Given the description of an element on the screen output the (x, y) to click on. 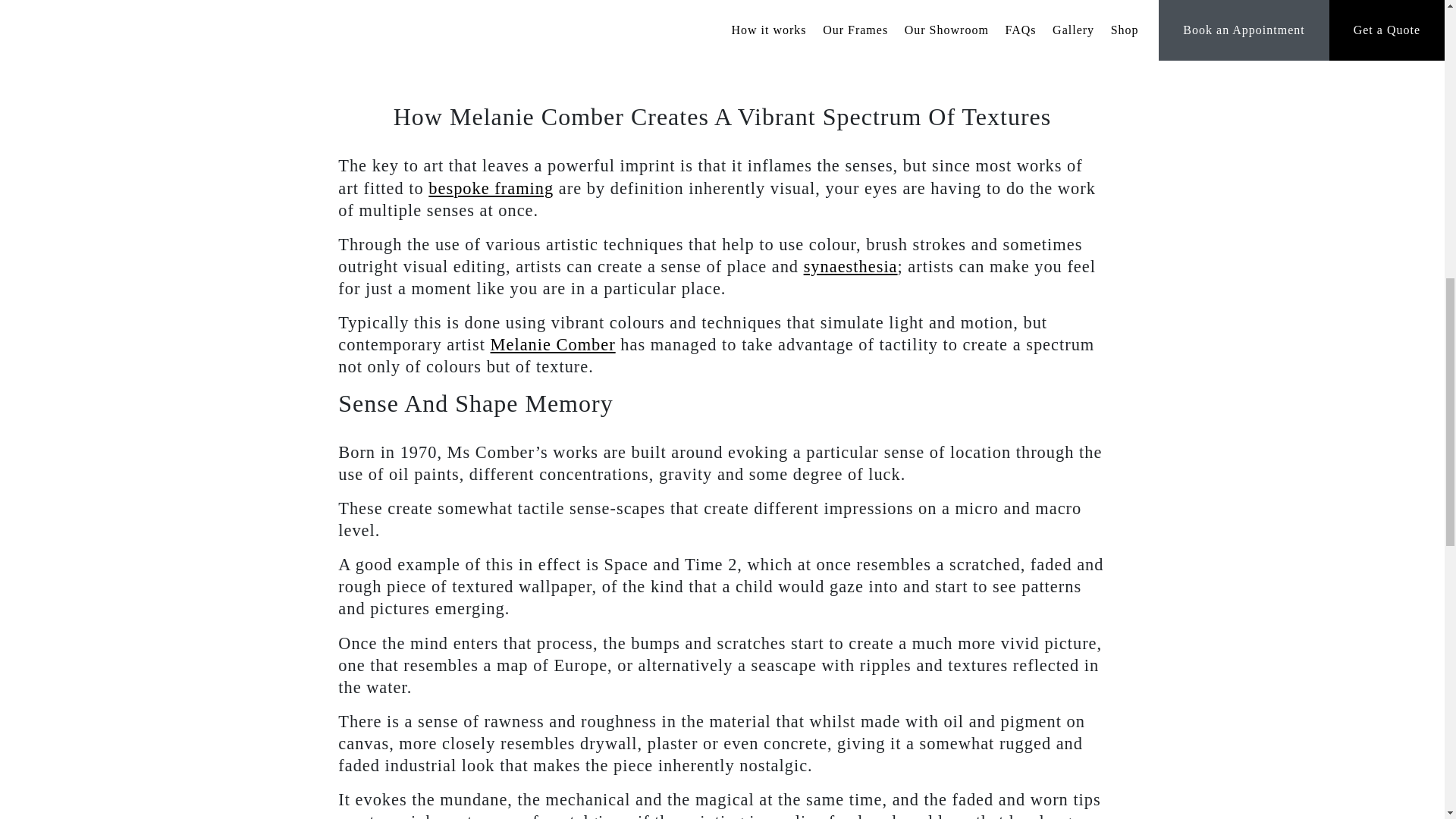
Melanie Comber (552, 343)
synaesthesia (850, 266)
admin (731, 33)
bespoke framing (490, 188)
